Given the description of an element on the screen output the (x, y) to click on. 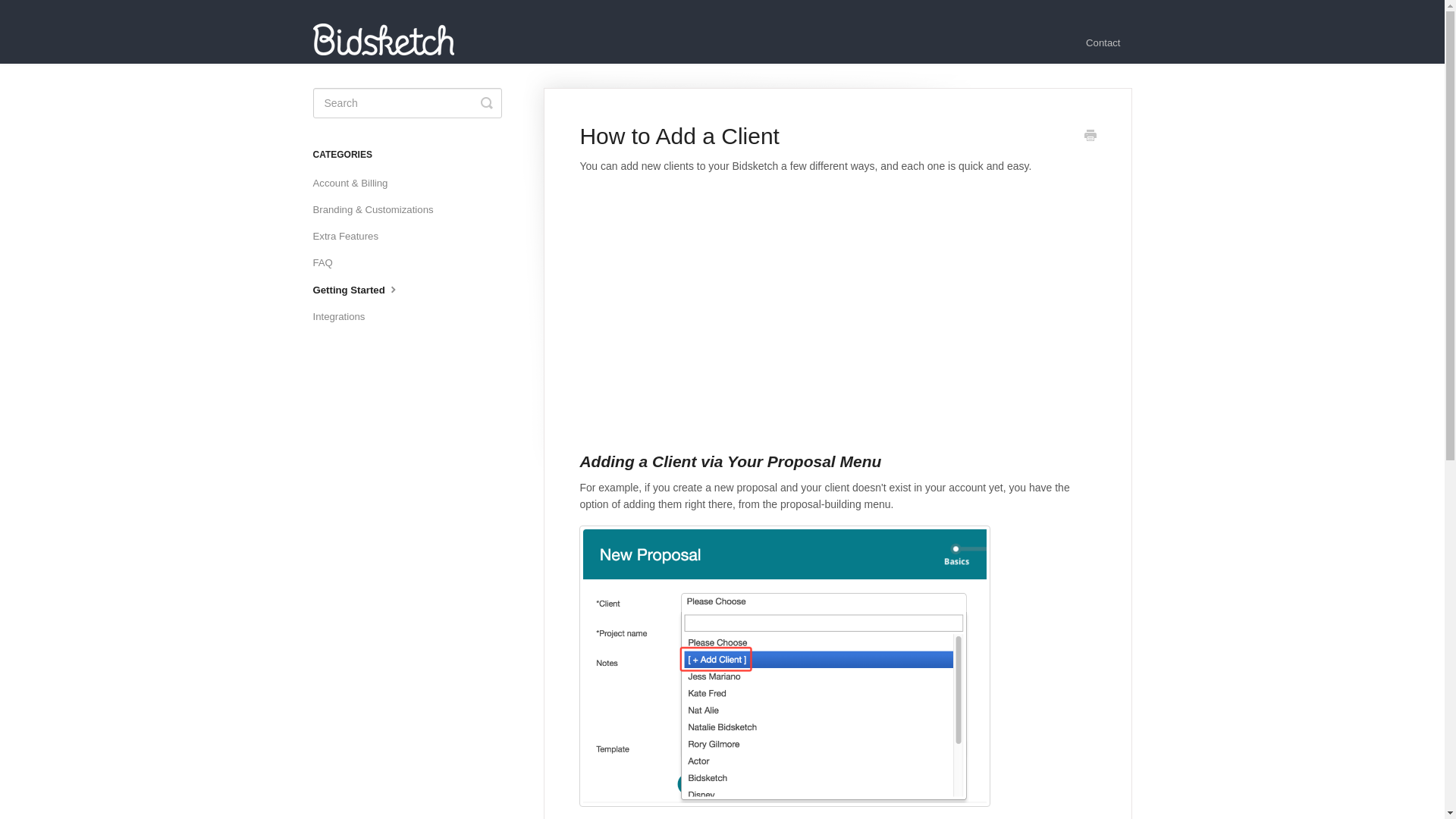
Creating Clients Video (821, 304)
search-query (406, 102)
Extra Features (351, 236)
Print this article (1090, 136)
Toggle Search (486, 102)
FAQ (328, 262)
Contact (1102, 42)
Getting Started (362, 289)
Integrations (344, 316)
